Given the description of an element on the screen output the (x, y) to click on. 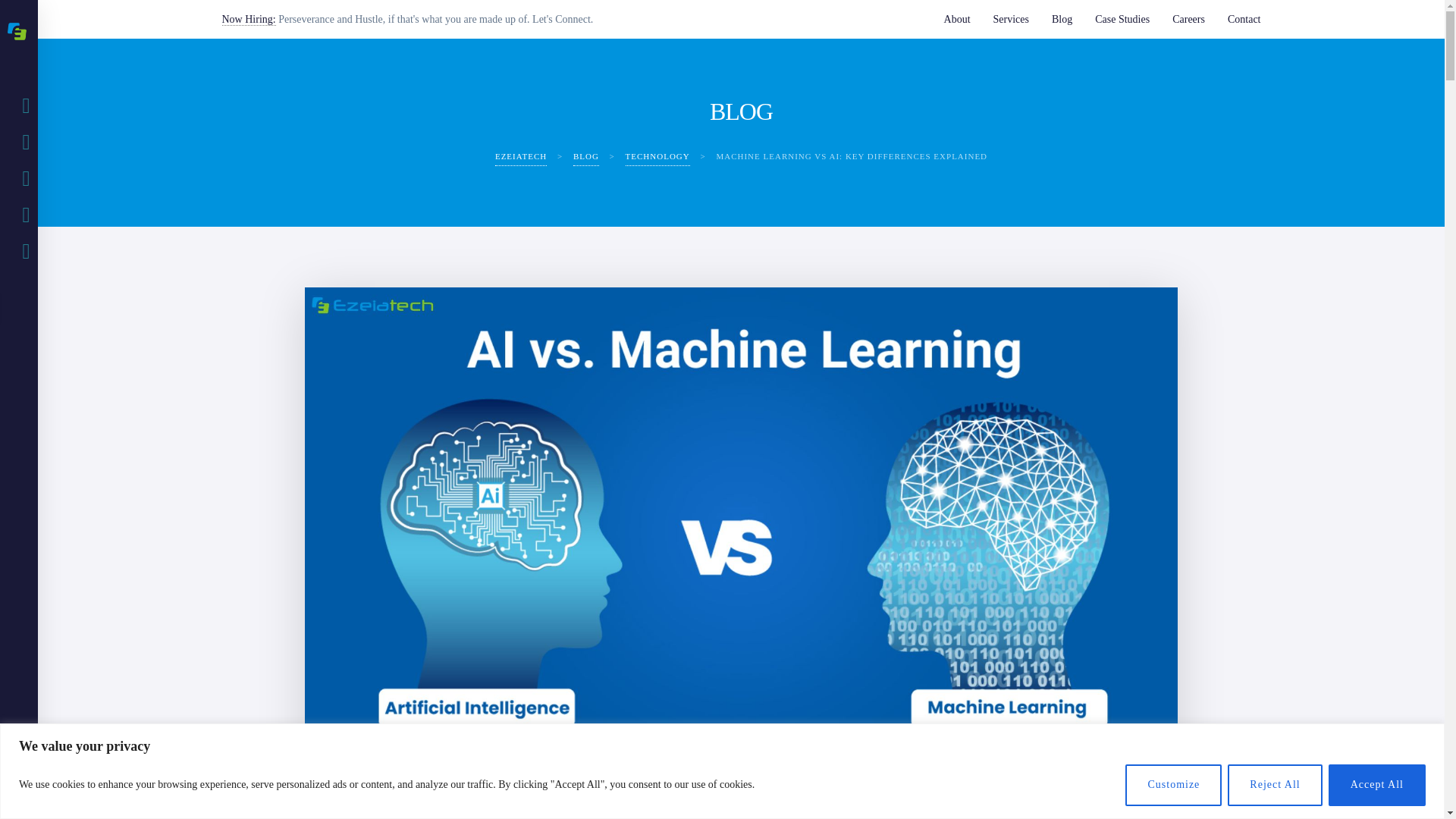
Services (1010, 19)
HOME (26, 105)
Accept All (1376, 784)
Now Hiring: (248, 19)
Go to the Technology Category archives. (658, 156)
Reject All (1274, 784)
Go to Ezeiatech. (521, 156)
Case Studies (1122, 19)
ABOUT (26, 142)
Go to Blog. (585, 156)
